Given the description of an element on the screen output the (x, y) to click on. 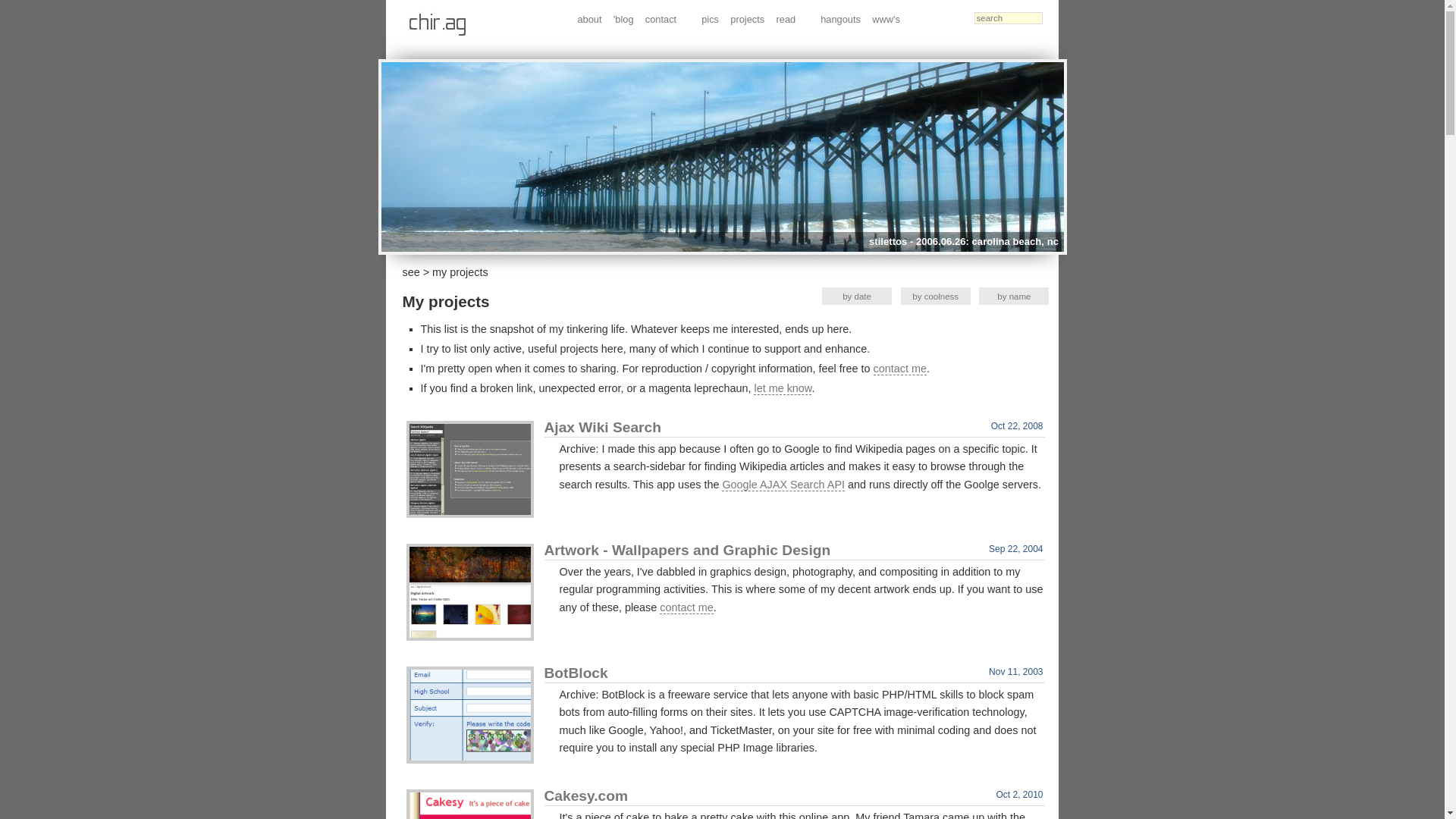
www's (885, 19)
search (1008, 18)
stilettos - 2006.06.26: carolina beach, nc (721, 156)
Ajax Wiki Search (470, 468)
chir.ag (436, 24)
BotBlock (470, 714)
 stilettos - 2006.06.26: carolina beach, nc (721, 156)
by date (856, 295)
'blog (623, 19)
projects (747, 19)
by coolness (935, 295)
Artwork - Wallpapers and Graphic Design (470, 591)
read (786, 19)
contact (660, 19)
pics (710, 19)
